Given the description of an element on the screen output the (x, y) to click on. 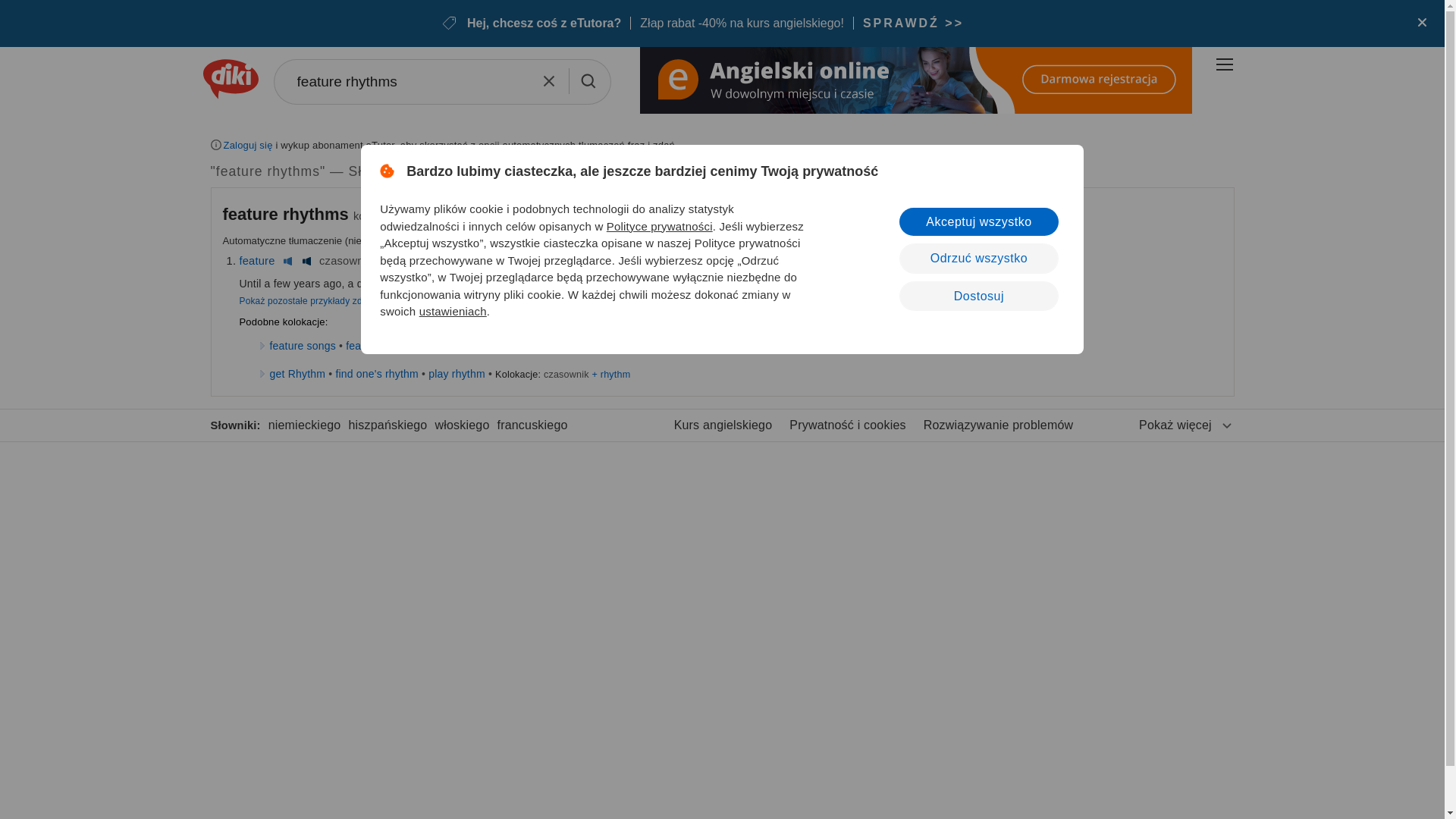
feature music (477, 345)
feature (257, 260)
Akceptuj wszystko (978, 221)
rhythm (402, 260)
get Rhythm (297, 373)
find one's rhythm (376, 373)
British English (287, 260)
British English (432, 260)
Uwaga: kolokacja wygenerowana automatycznie. (287, 213)
Szukaj (587, 80)
American English (306, 260)
feature songs (302, 345)
feature rhythms (441, 81)
play rhythm (456, 373)
feature rhythms (285, 213)
